Given the description of an element on the screen output the (x, y) to click on. 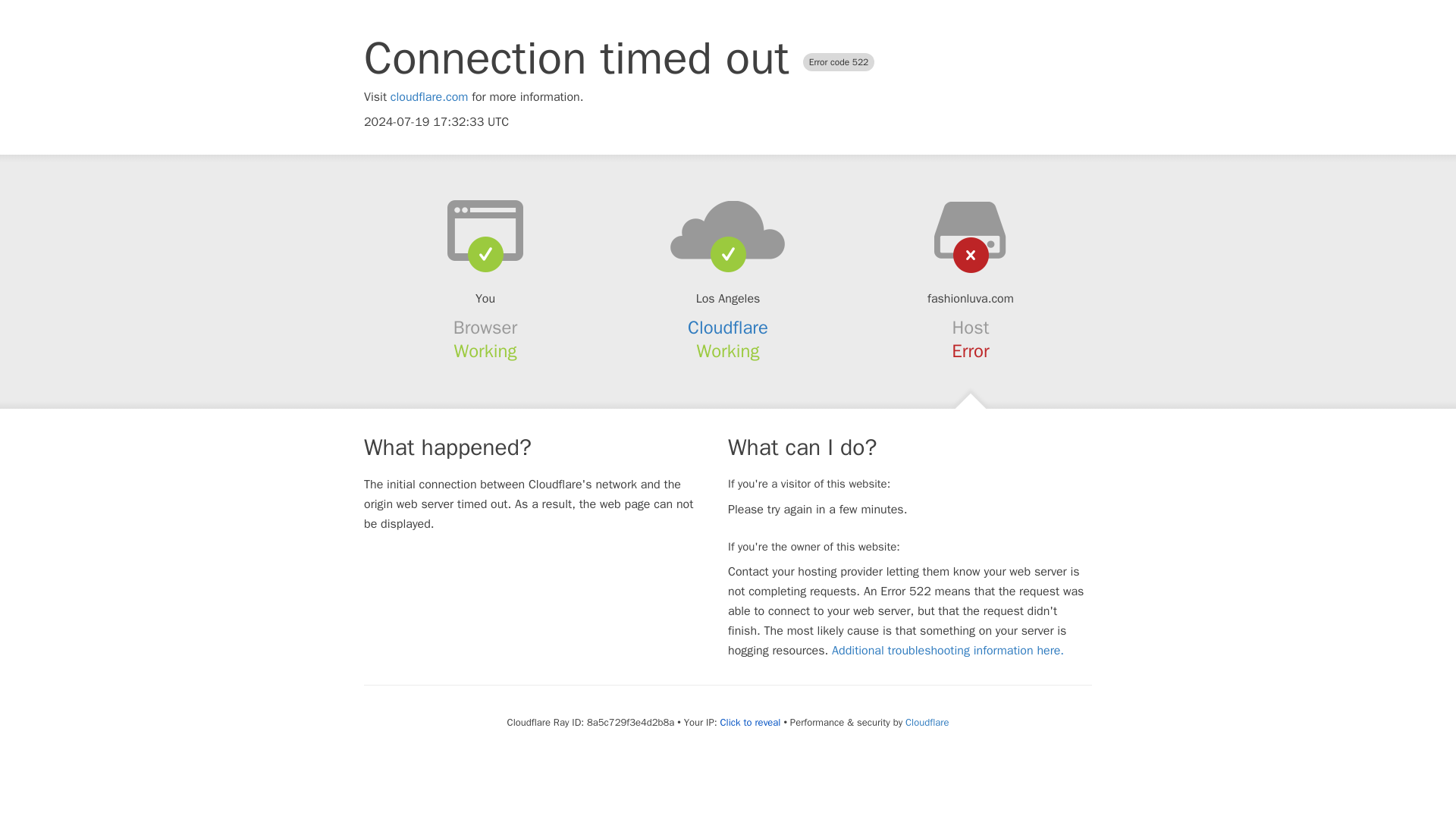
Cloudflare (727, 327)
cloudflare.com (429, 96)
Additional troubleshooting information here. (947, 650)
Cloudflare (927, 721)
Click to reveal (750, 722)
